Given the description of an element on the screen output the (x, y) to click on. 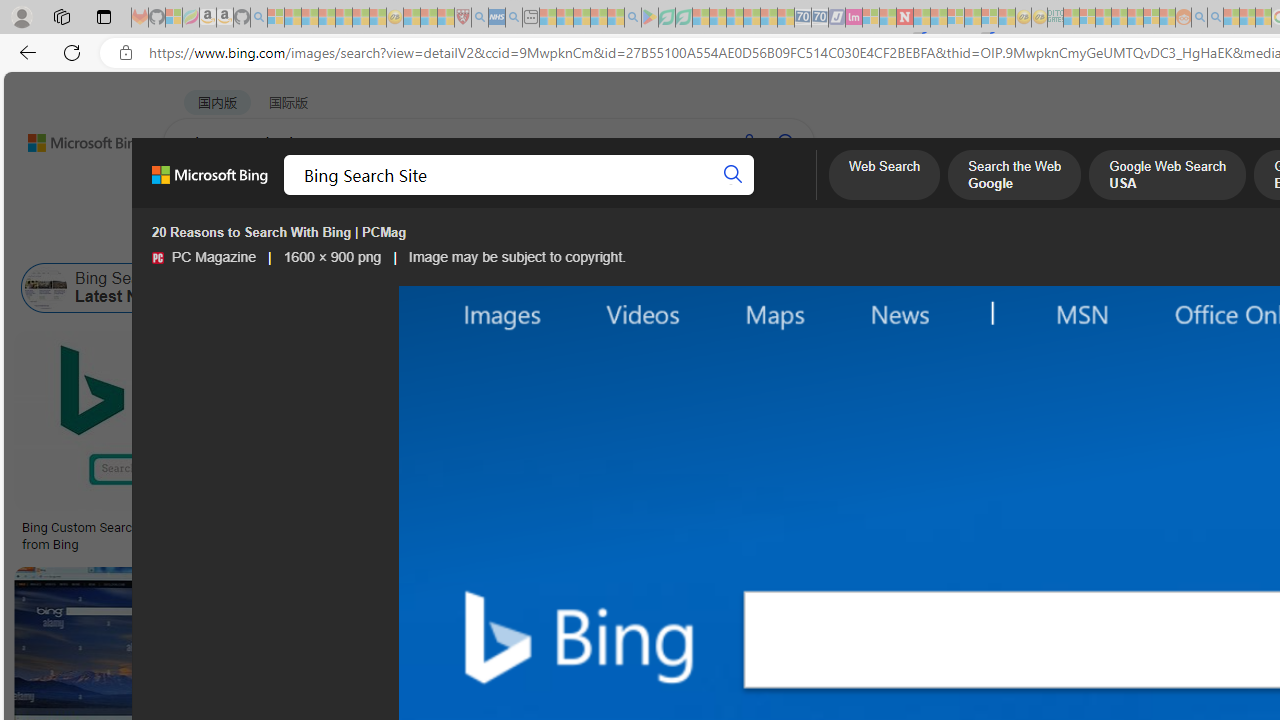
Bing Home Screen (689, 287)
Search button (732, 174)
Bing - SEOLend (386, 528)
Bing Advanced Search Tricks You Should Know (803, 528)
DICT (717, 195)
People (520, 237)
Jobs - lastminute.com Investor Portal - Sleeping (853, 17)
